Given the description of an element on the screen output the (x, y) to click on. 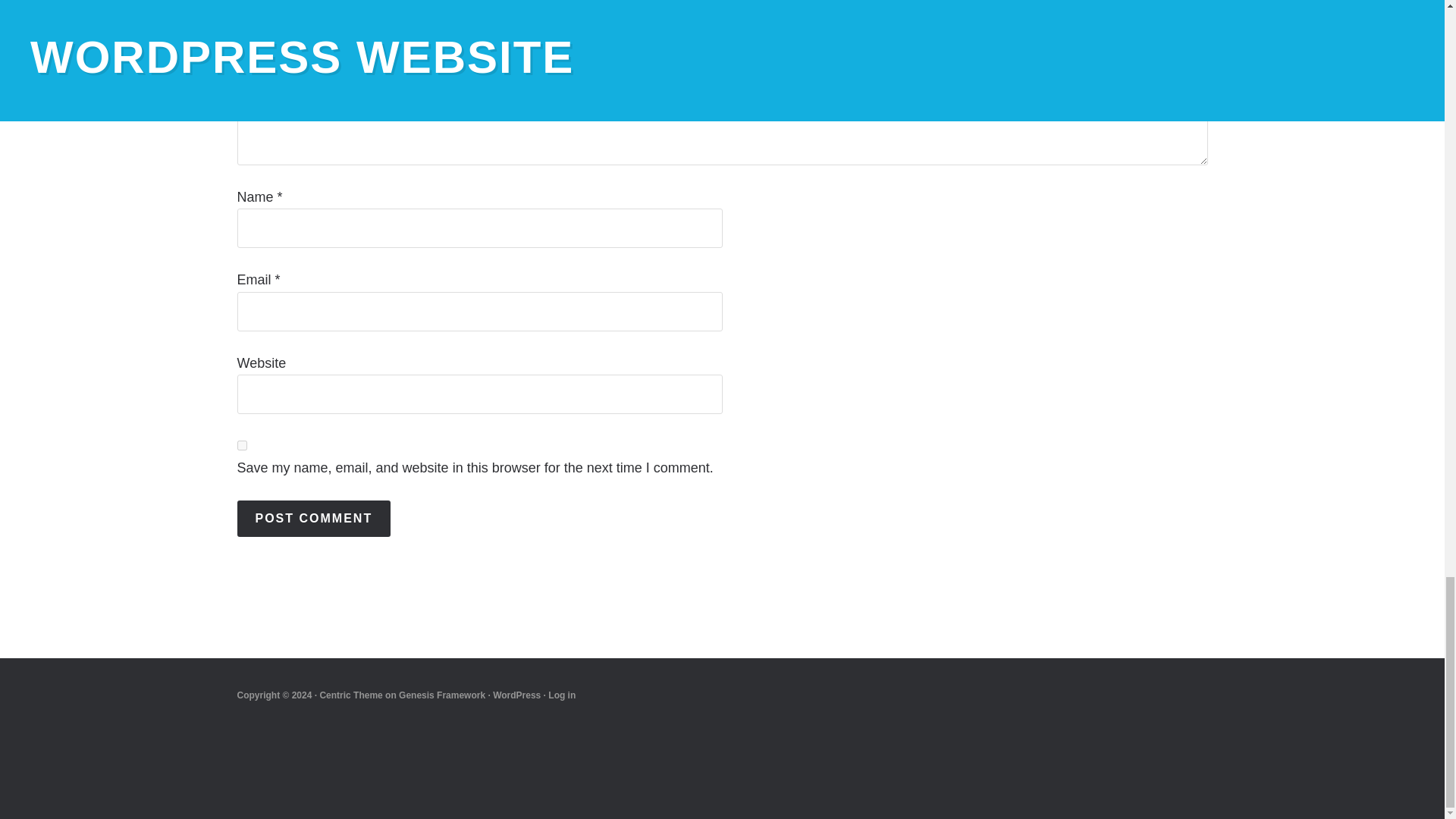
WordPress (516, 695)
Post Comment (312, 518)
Log in (561, 695)
Genesis Framework (441, 695)
Post Comment (312, 518)
Centric Theme (349, 695)
yes (240, 445)
